Given the description of an element on the screen output the (x, y) to click on. 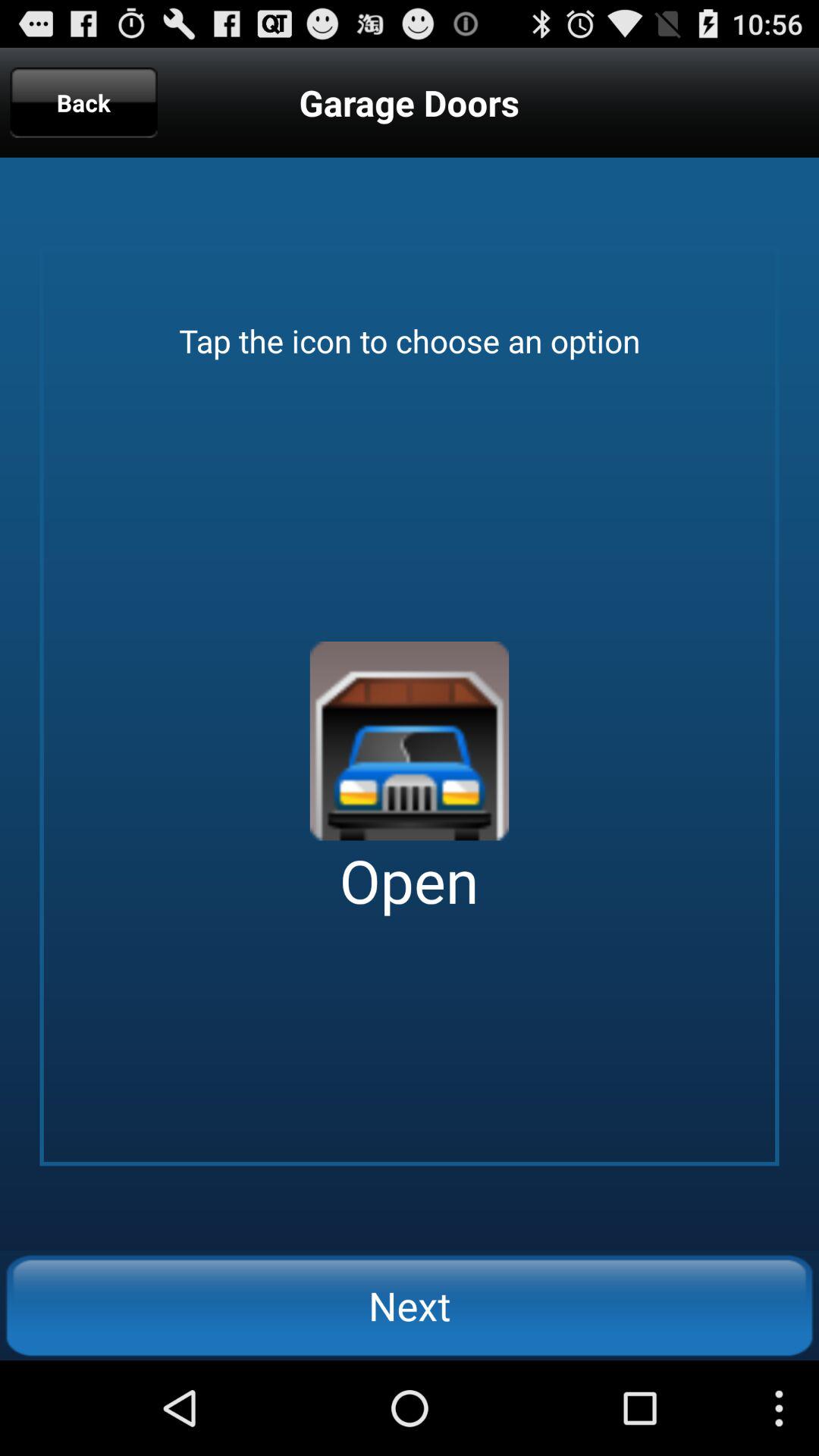
launch back at the top left corner (83, 102)
